Given the description of an element on the screen output the (x, y) to click on. 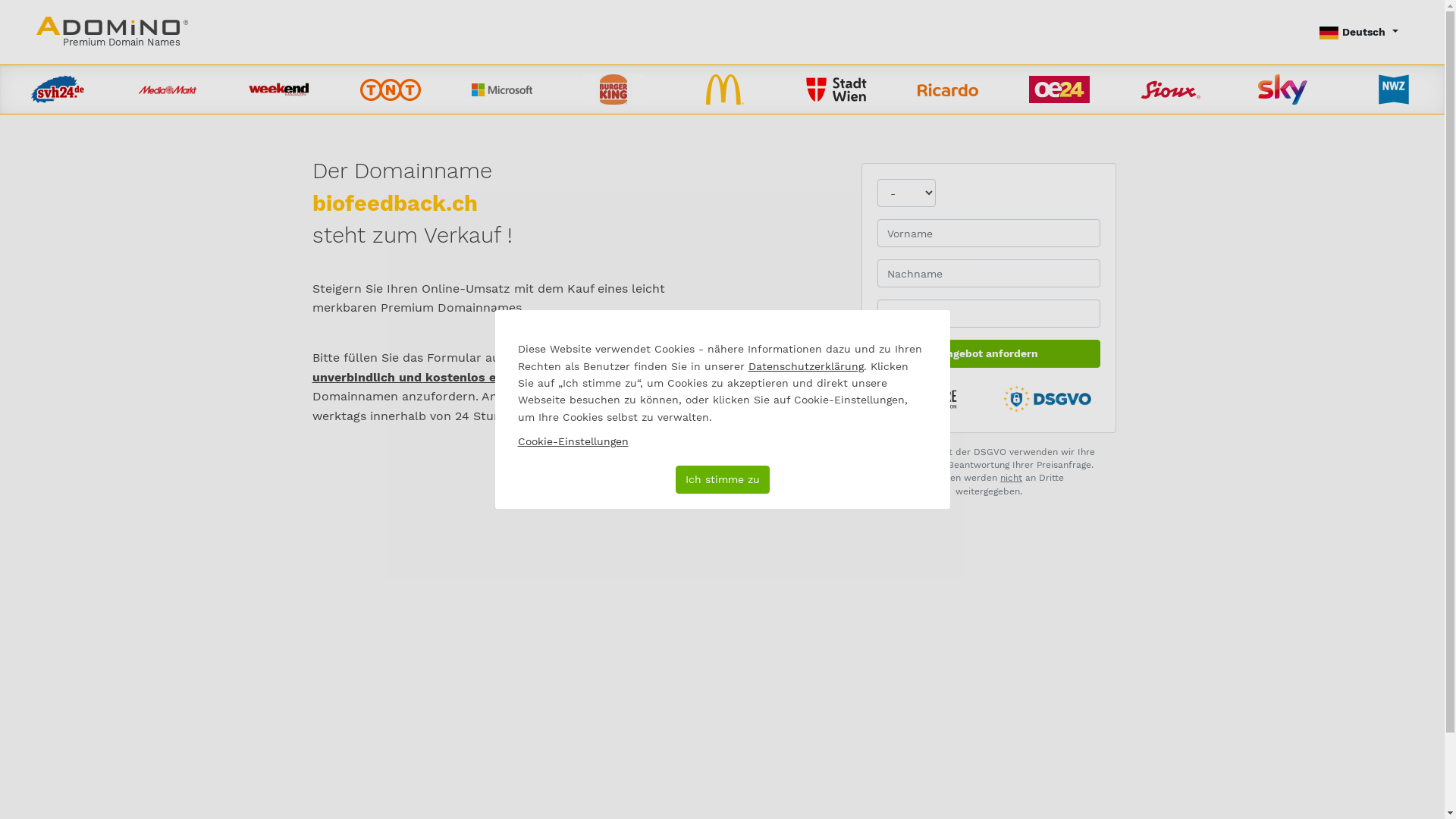
Ich stimme zu Element type: text (721, 479)
Premium Domain Names Element type: text (112, 31)
Deutsch Element type: text (1358, 32)
Cookie-Einstellungen Element type: text (572, 441)
Angebot anfordern Element type: text (989, 353)
